Given the description of an element on the screen output the (x, y) to click on. 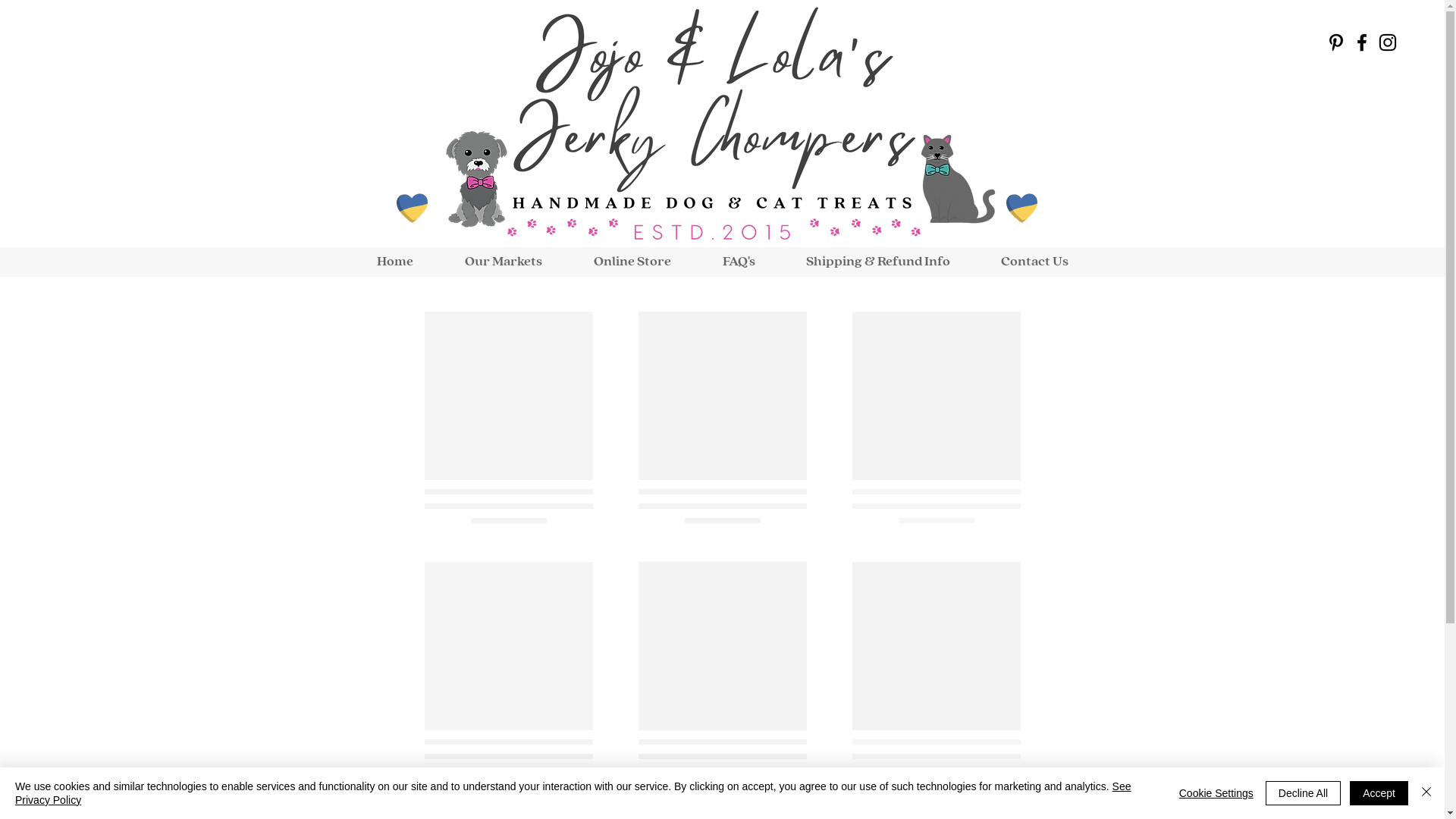
Shipping & Refund Info Element type: text (878, 261)
Online Store Element type: hover (1324, 409)
See Privacy Policy Element type: text (572, 793)
Our Markets Element type: text (502, 261)
FAQ's Element type: text (738, 261)
Decline All Element type: text (1302, 793)
Online Store Element type: hover (721, 542)
Accept Element type: text (1378, 793)
Home Element type: text (394, 261)
Contact Us Element type: text (1034, 261)
Online Store Element type: text (631, 261)
